Given the description of an element on the screen output the (x, y) to click on. 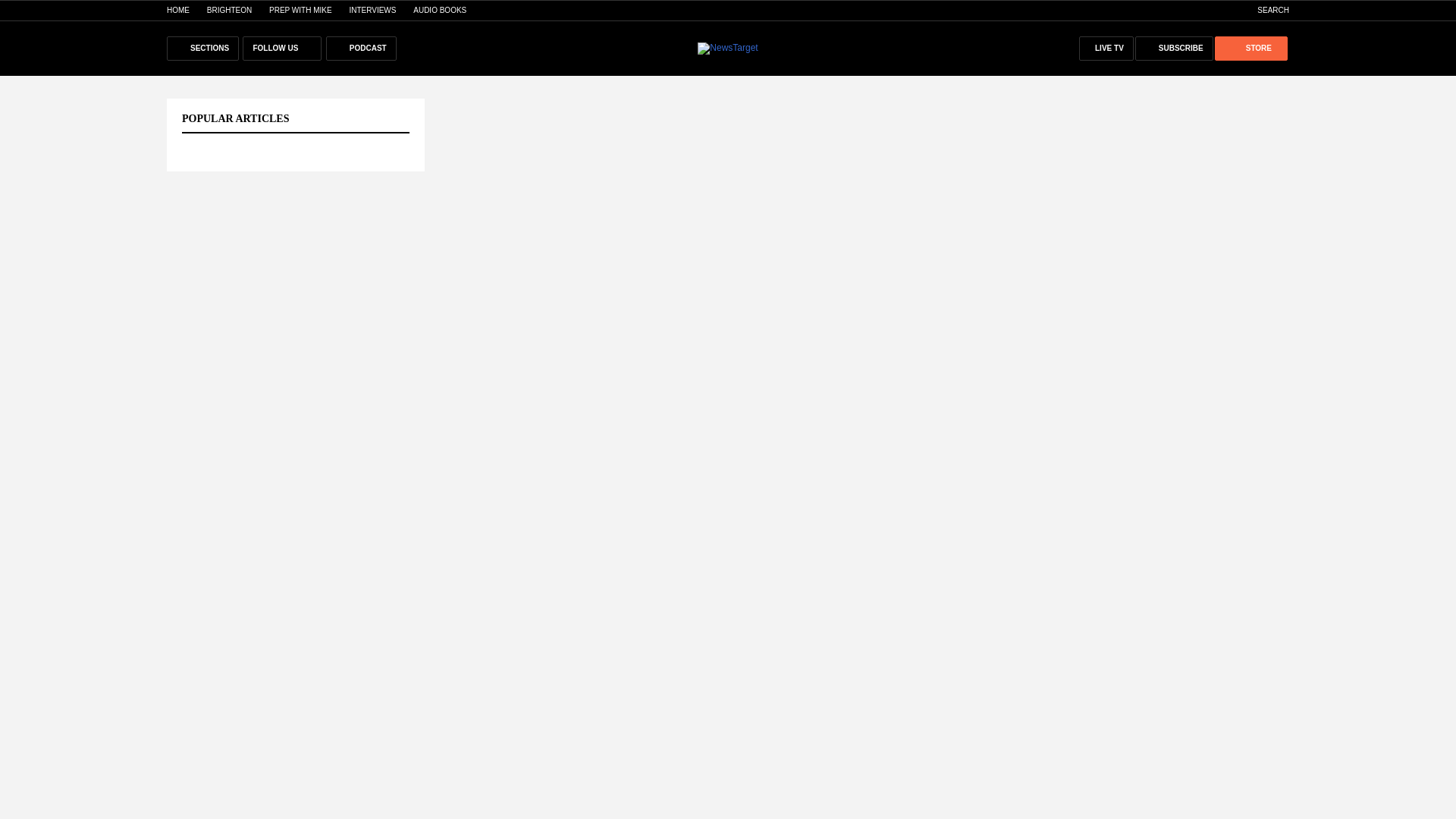
PODCAST (361, 48)
HOME (178, 9)
BRIGHTEON (228, 9)
STORE (1250, 48)
SUBSCRIBE (1173, 48)
AUDIO BOOKS (439, 9)
SEARCH (1264, 9)
LIVE TV (1106, 48)
INTERVIEWS (372, 9)
PREP WITH MIKE (300, 9)
